Given the description of an element on the screen output the (x, y) to click on. 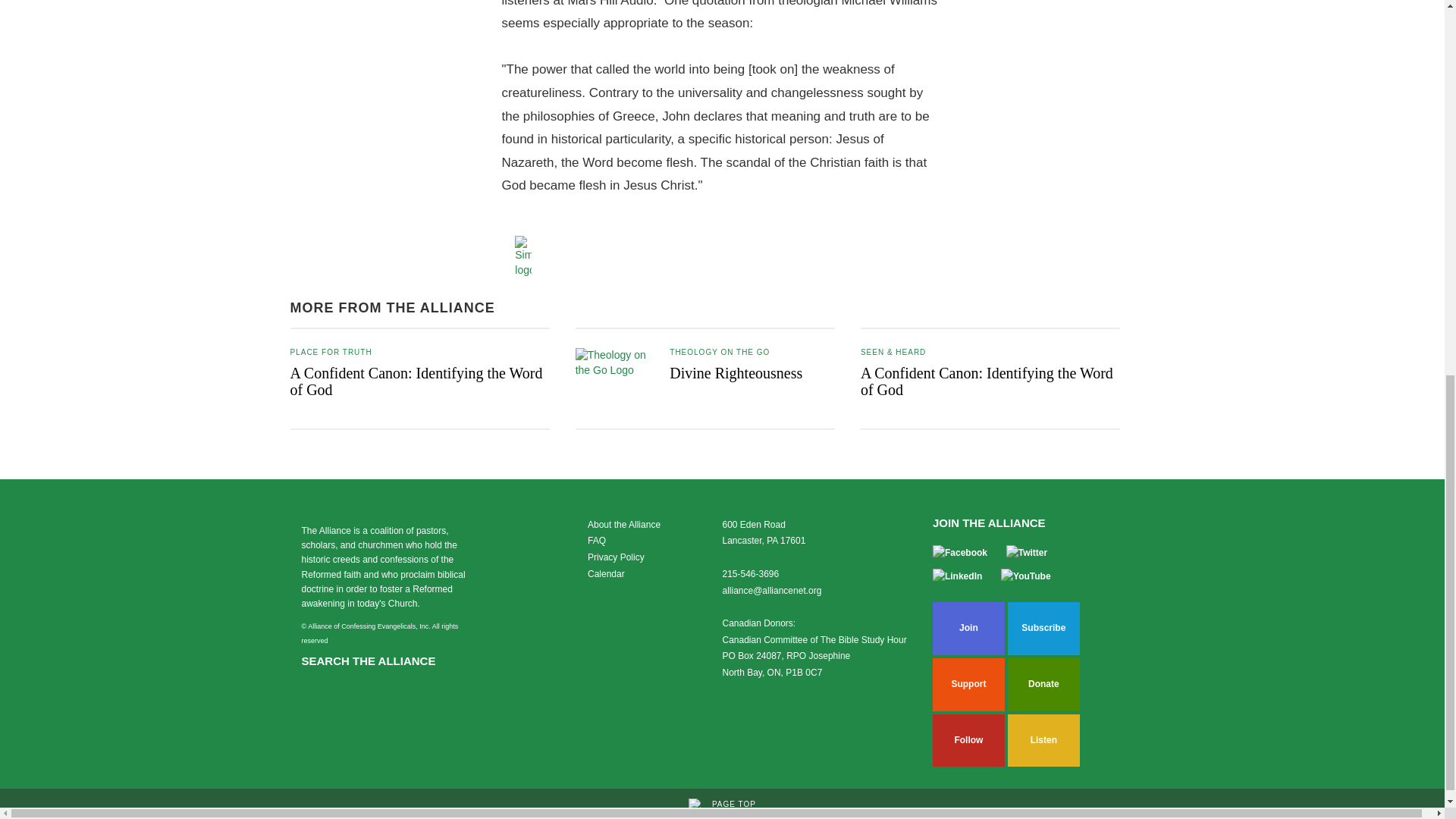
Place for Truth (719, 352)
A Confident Canon: Identifying the Word of God (986, 381)
Divine Righteousness (735, 372)
Place for Truth (330, 352)
A Confident Canon: Identifying the Word of God (415, 381)
